Given the description of an element on the screen output the (x, y) to click on. 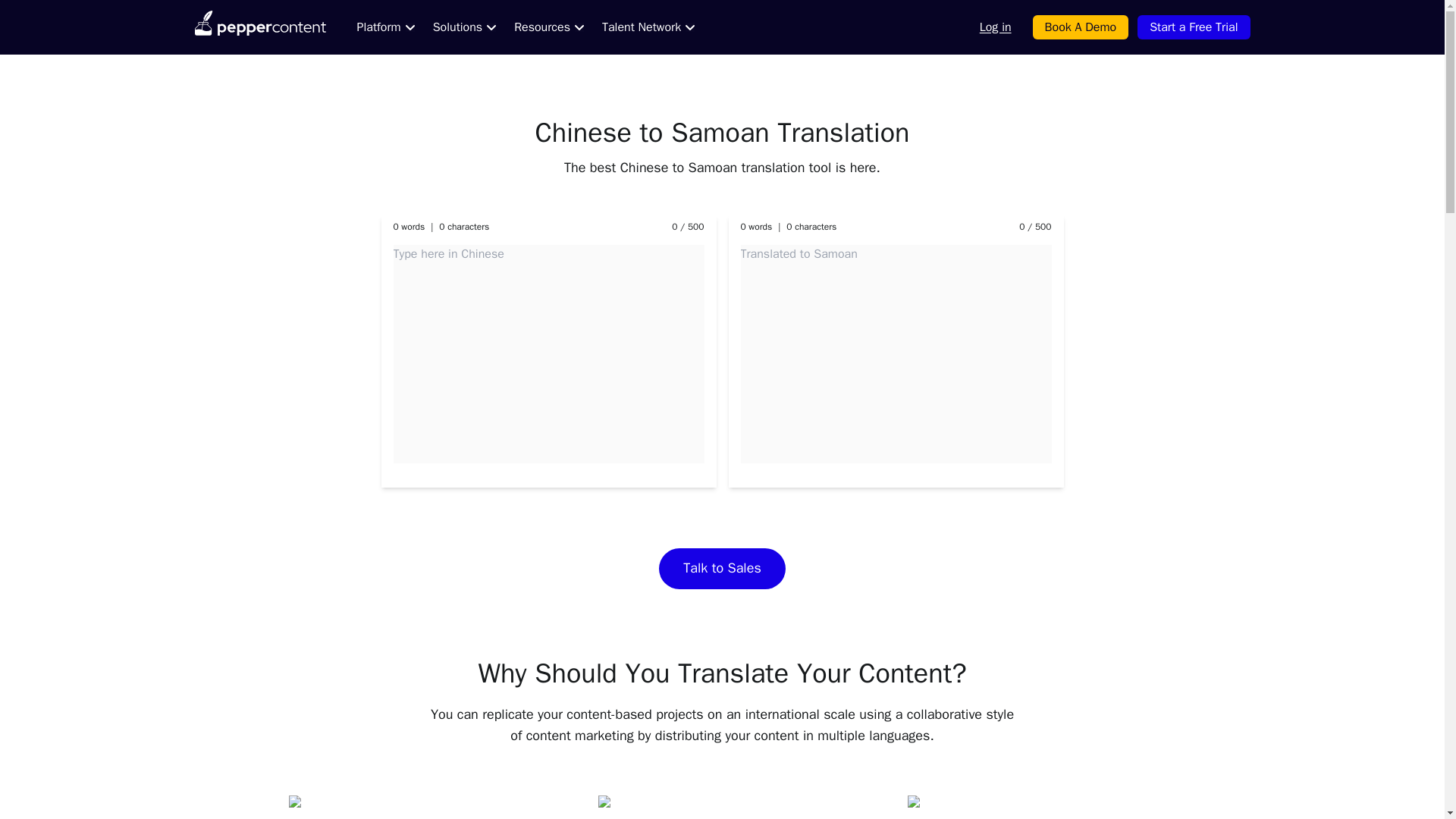
Platform (384, 27)
Homepage (259, 27)
